Given the description of an element on the screen output the (x, y) to click on. 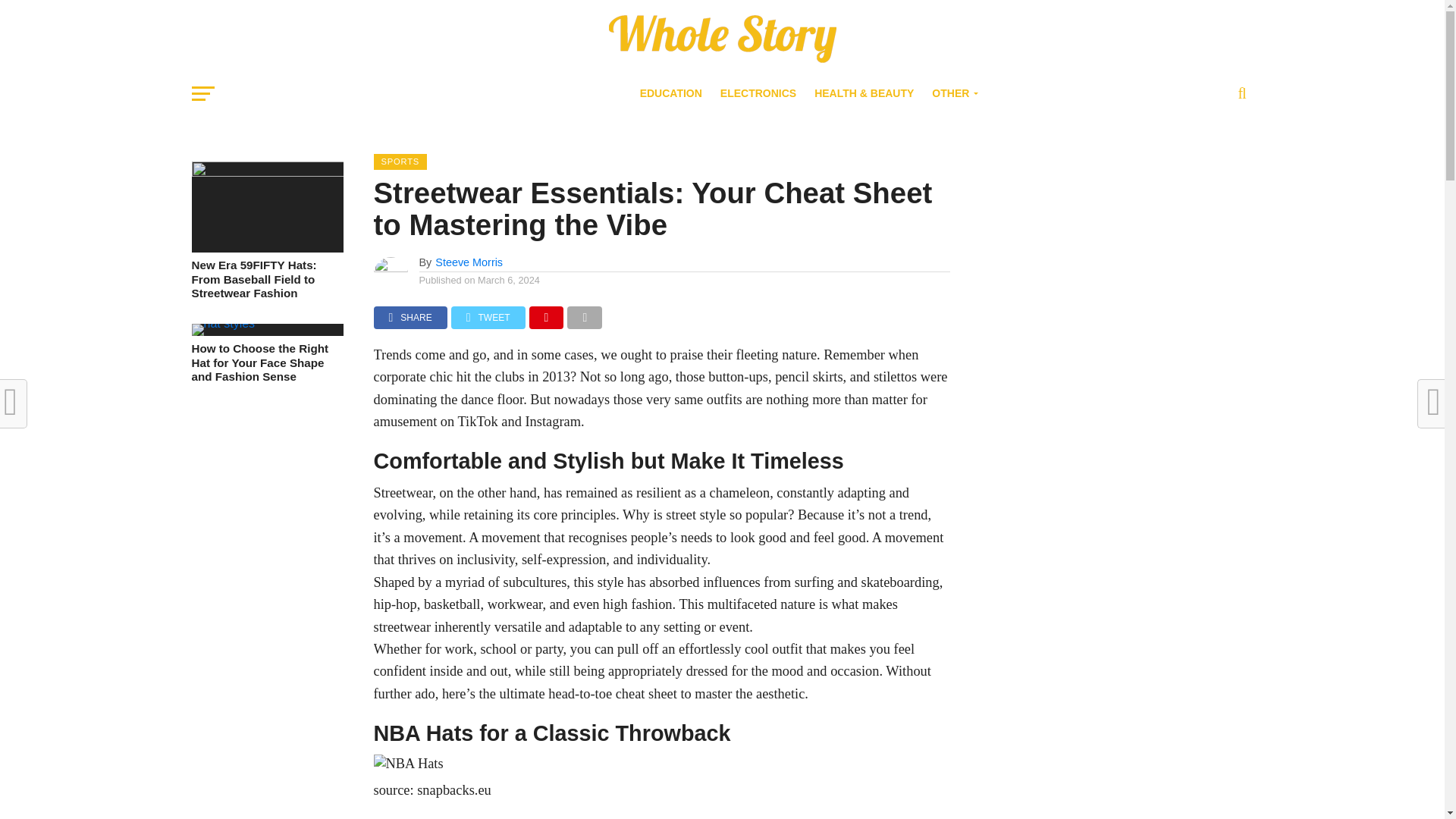
ELECTRONICS (758, 93)
EDUCATION (670, 93)
Posts by Steeve Morris (468, 262)
OTHER (952, 93)
